Given the description of an element on the screen output the (x, y) to click on. 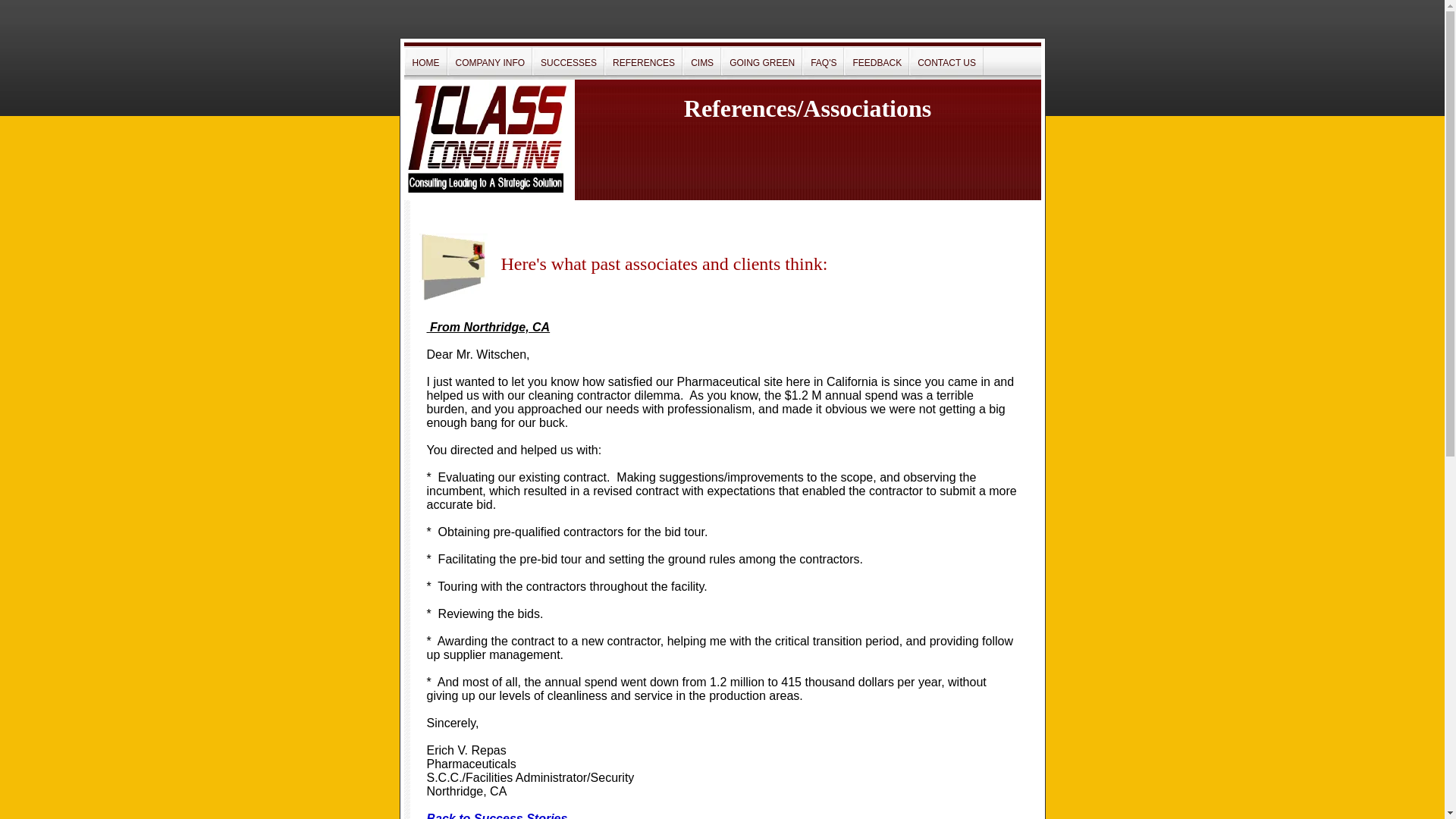
HOME Element type: text (425, 62)
CIMS Element type: text (702, 62)
COMPANY INFO Element type: text (489, 62)
REFERENCES Element type: text (643, 62)
SUCCESSES Element type: text (568, 62)
FAQ'S Element type: text (823, 62)
GOING GREEN Element type: text (761, 62)
FEEDBACK Element type: text (876, 62)
CONTACT US Element type: text (946, 62)
  Element type: text (427, 326)
